Given the description of an element on the screen output the (x, y) to click on. 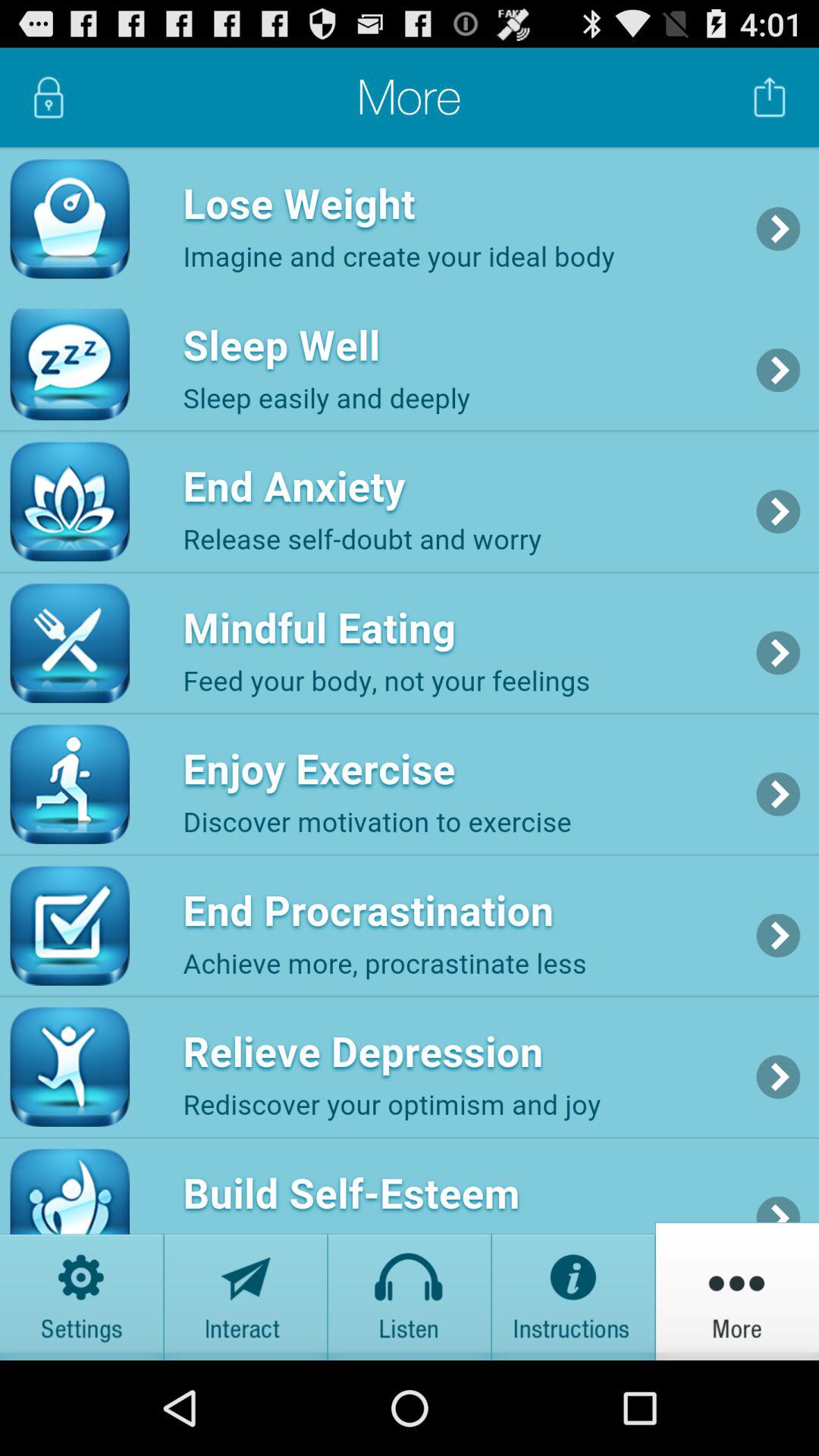
more (737, 1290)
